Given the description of an element on the screen output the (x, y) to click on. 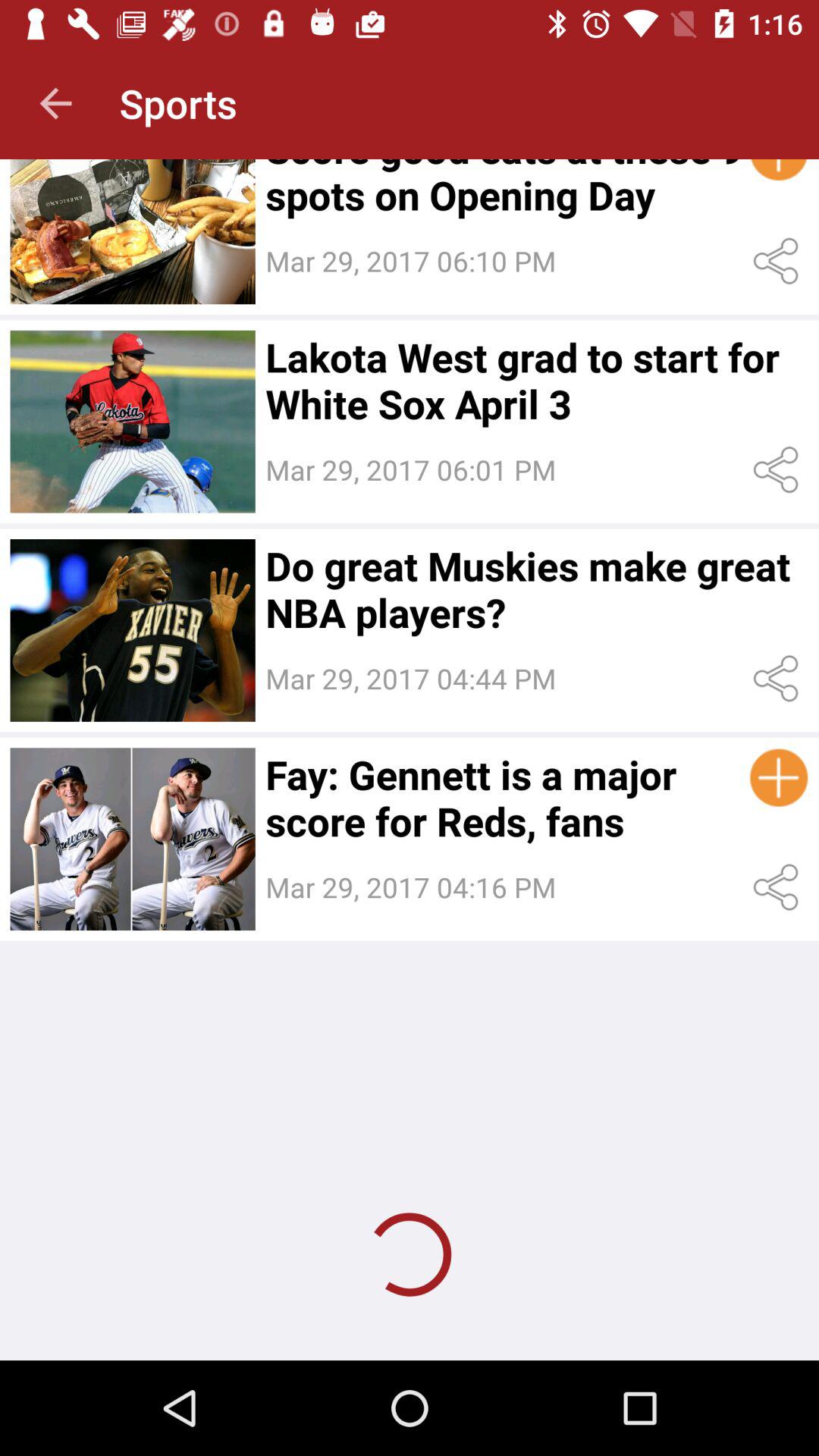
share the article (778, 678)
